Given the description of an element on the screen output the (x, y) to click on. 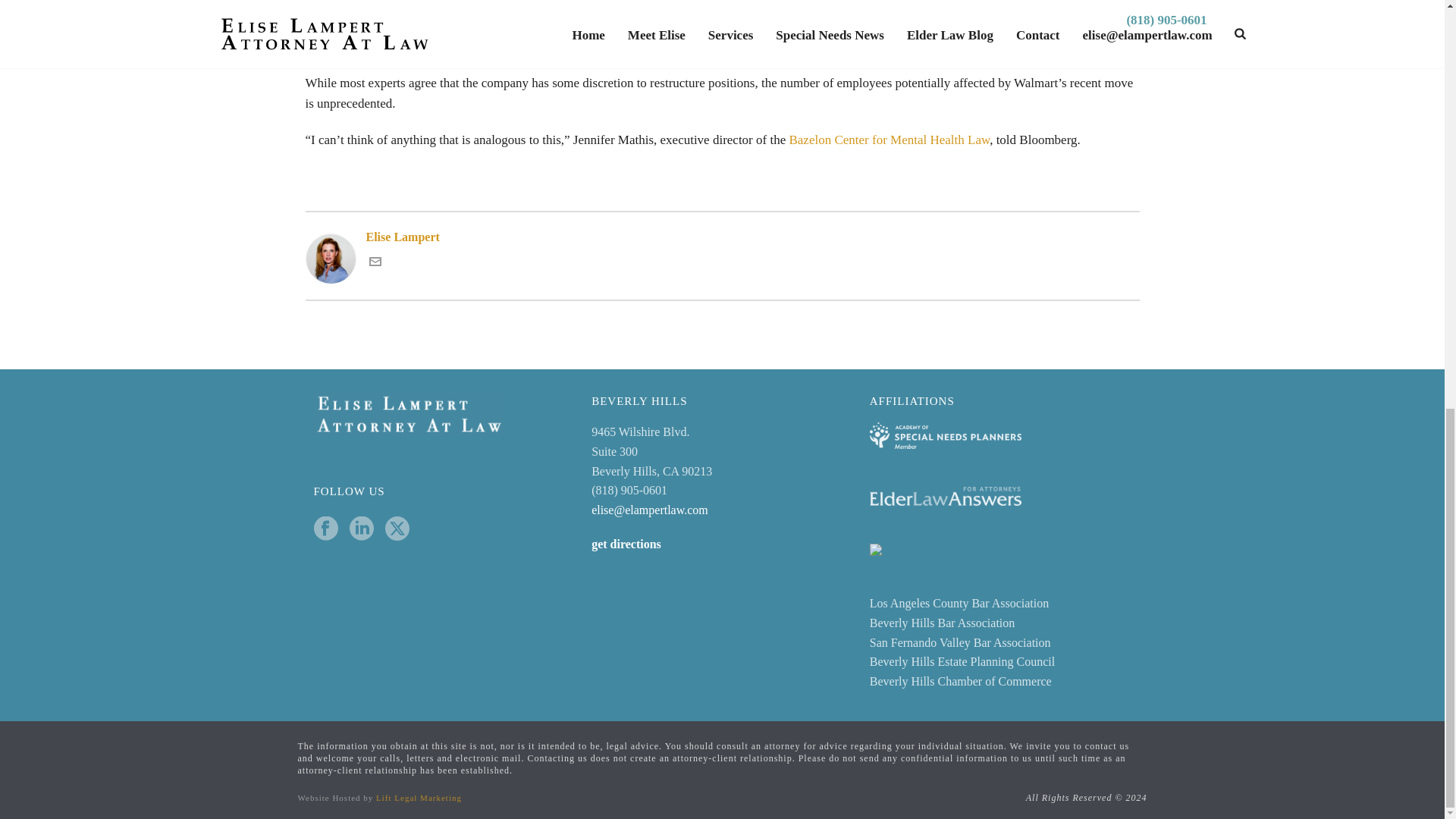
Get in touch with me via email (374, 263)
Bazelon Center for Mental Health Law (888, 139)
Elise Lampert (721, 237)
Follow Us on facebook (325, 529)
Follow Us on twitter (397, 529)
Follow Us on linkedin (360, 529)
